Given the description of an element on the screen output the (x, y) to click on. 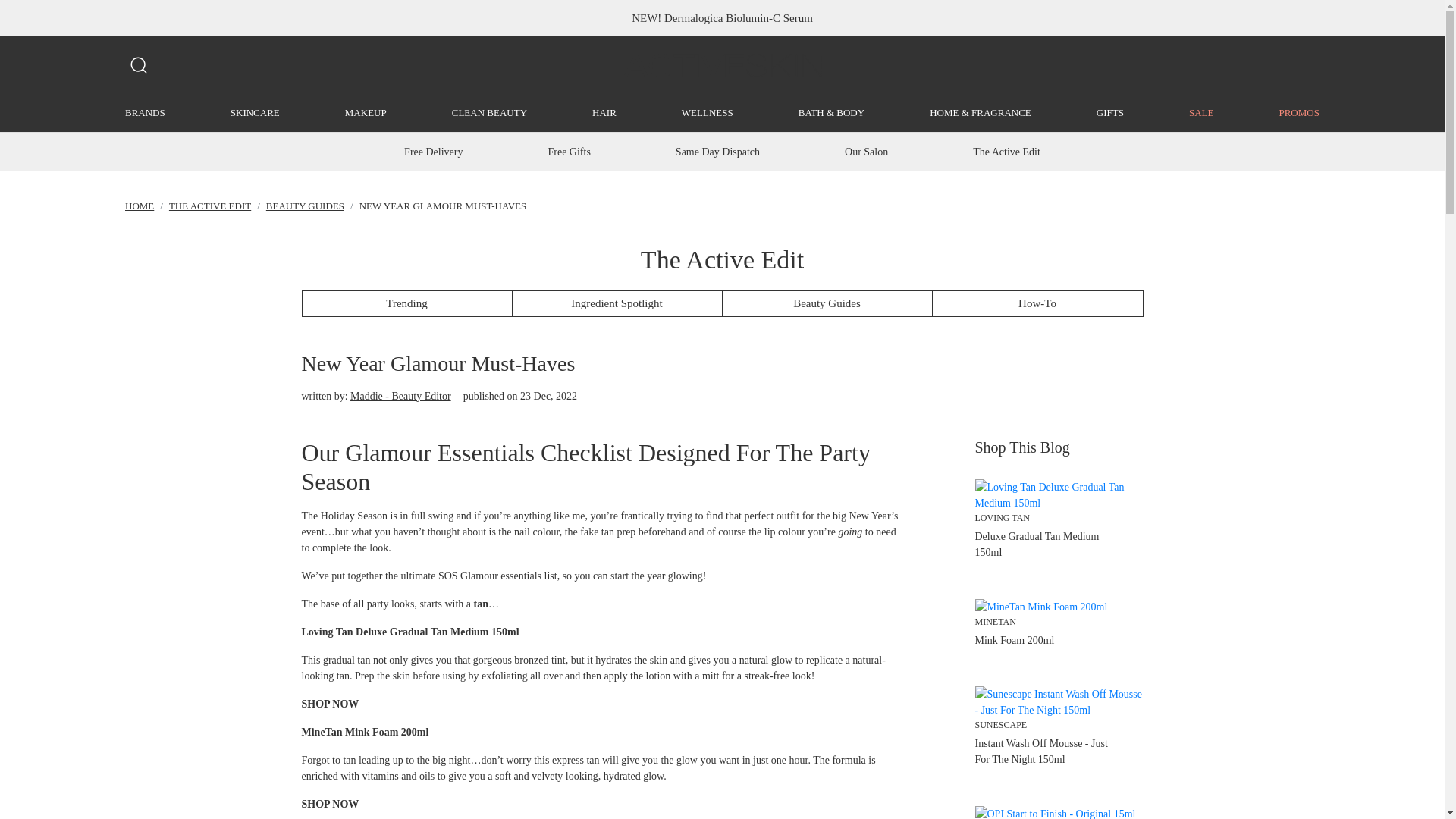
Activeskin (722, 63)
BRANDS (145, 112)
NEW! Dermalogica Biolumin-C Serum (721, 18)
